Given the description of an element on the screen output the (x, y) to click on. 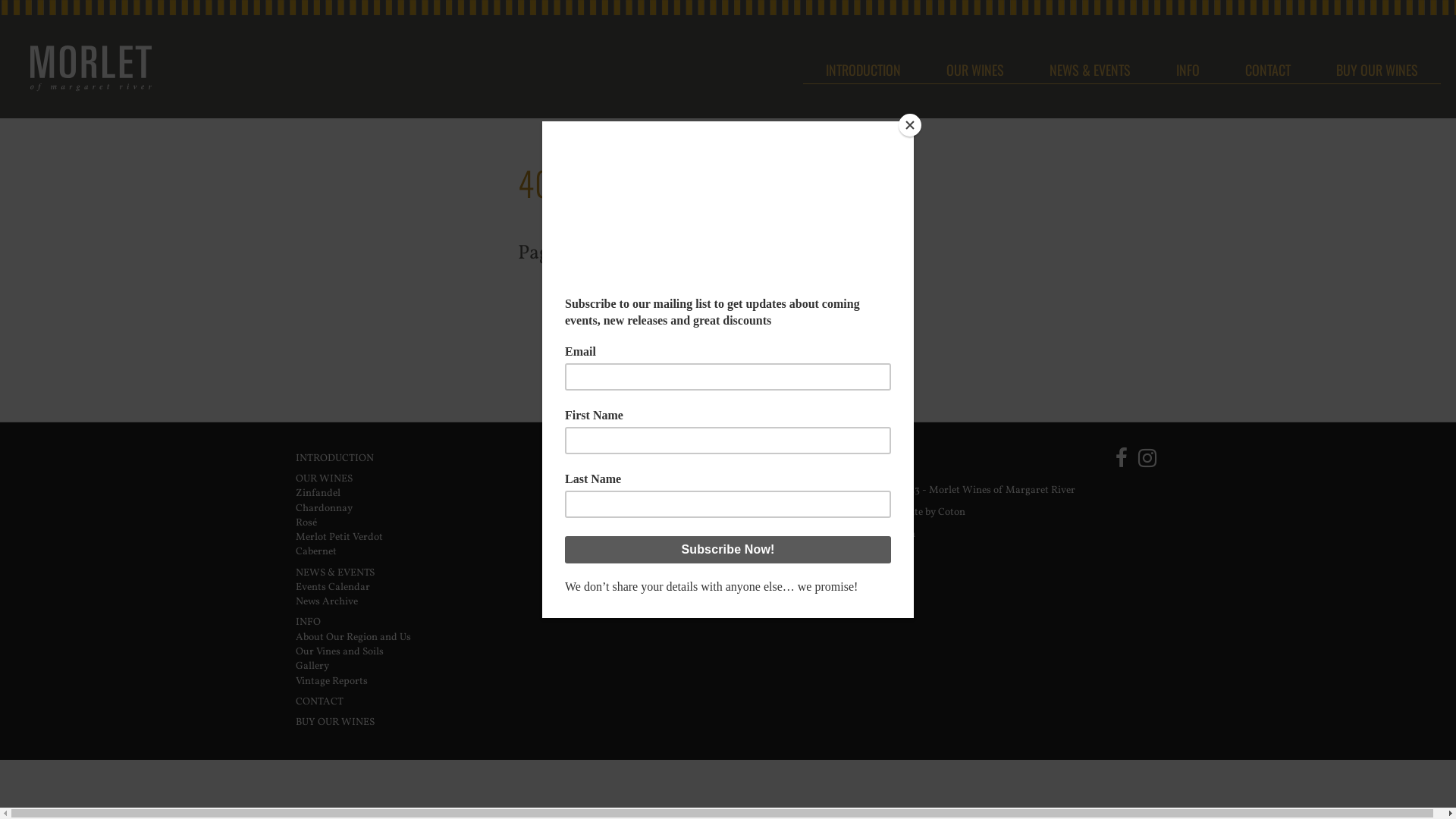
NEWS & EVENTS Element type: text (334, 572)
INTRODUCTION Element type: text (334, 458)
Cabernet Element type: text (315, 551)
Zinfandel Element type: text (317, 493)
morlet-wines-logo Element type: text (90, 122)
Chardonnay Element type: text (323, 508)
BUY OUR WINES Element type: text (1376, 68)
OUR WINES Element type: text (323, 478)
Events Calendar Element type: text (332, 587)
Website by Coton Element type: text (926, 512)
Gallery Element type: text (312, 665)
CONTACT Element type: text (1267, 68)
Our Vines and Soils Element type: text (339, 651)
BUY OUR WINES Element type: text (334, 722)
Log in Element type: text (901, 534)
CONTACT Element type: text (319, 701)
About Our Region and Us Element type: text (353, 637)
NEWS & EVENTS Element type: text (1089, 68)
News Archive Element type: text (326, 601)
Merlot Petit Verdot Element type: text (338, 537)
INTRODUCTION Element type: text (863, 68)
Vintage Reports Element type: text (331, 681)
OUR WINES Element type: text (974, 68)
INFO Element type: text (1187, 68)
Facebook Element type: hover (1121, 457)
INFO Element type: text (307, 622)
Instagram Element type: hover (1147, 457)
